Given the description of an element on the screen output the (x, y) to click on. 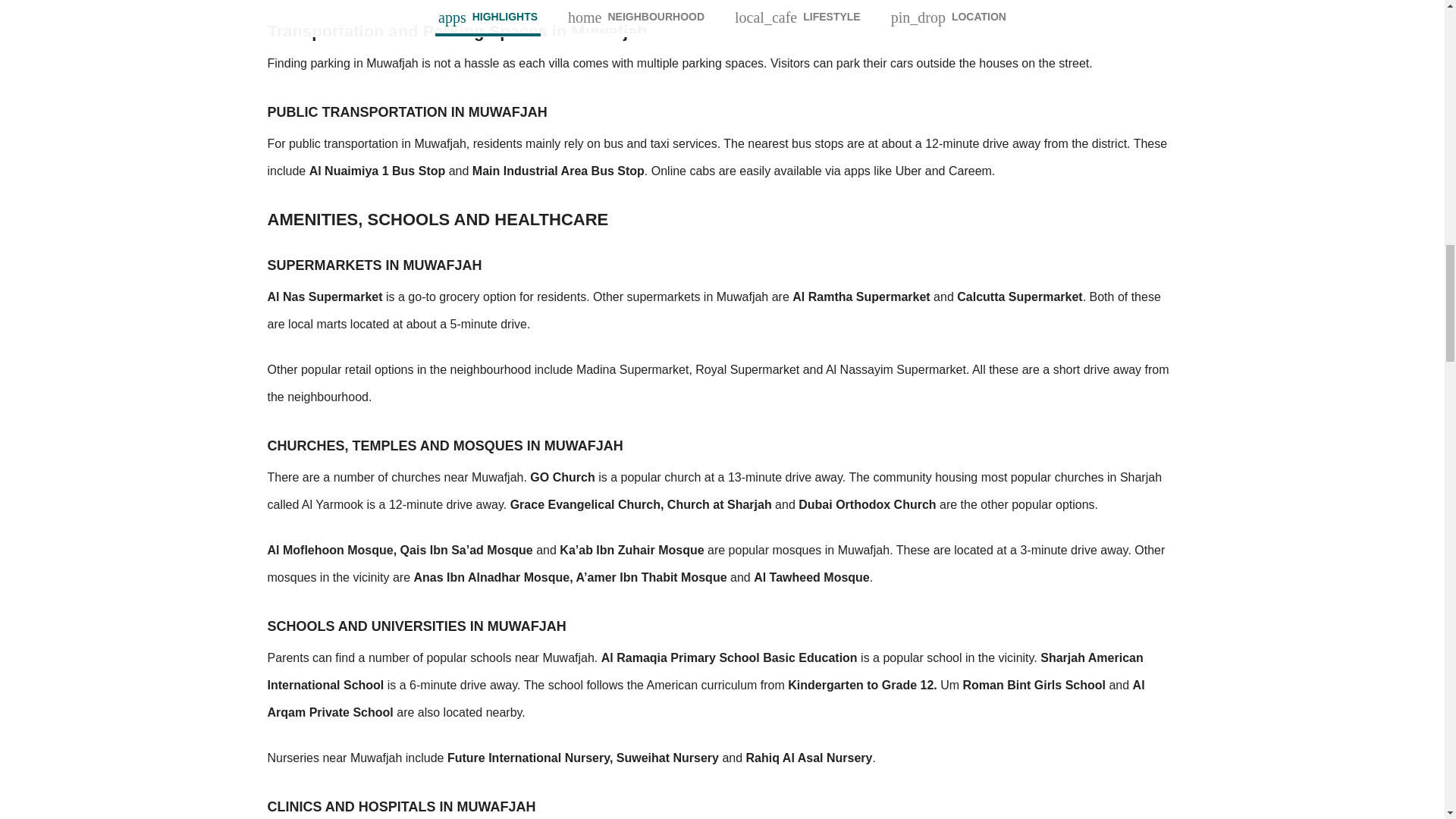
CHURCHES, TEMPLES AND MOSQUES IN MUWAFJAH (721, 427)
CLINICS AND HOSPITALS IN MUWAFJAH (721, 788)
SCHOOLS AND UNIVERSITIES IN MUWAFJAH (721, 608)
Transportation and Parking Spaces in Muwafjah (721, 21)
SUPERMARKETS IN MUWAFJAH (721, 247)
PUBLIC TRANSPORTATION IN MUWAFJAH (721, 93)
AMENITIES, SCHOOLS AND HEALTHCARE (721, 201)
